Given the description of an element on the screen output the (x, y) to click on. 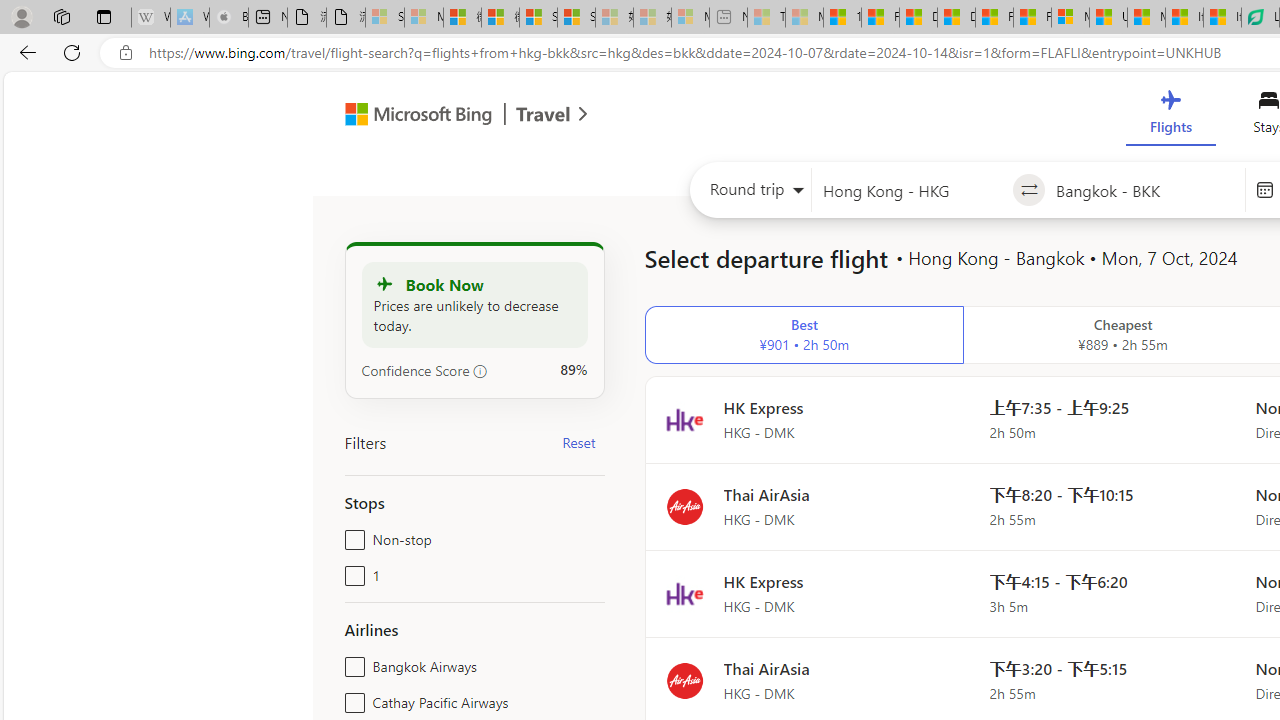
Non-stop (351, 535)
Microsoft account | Account Checkup - Sleeping (690, 17)
Leaving from? (912, 190)
Sign in to your Microsoft account - Sleeping (385, 17)
Cathay Pacific Airways (351, 698)
Reset (578, 442)
Class: msft-travel-logo (543, 114)
Flight logo (684, 680)
Flights (1170, 116)
